Given the description of an element on the screen output the (x, y) to click on. 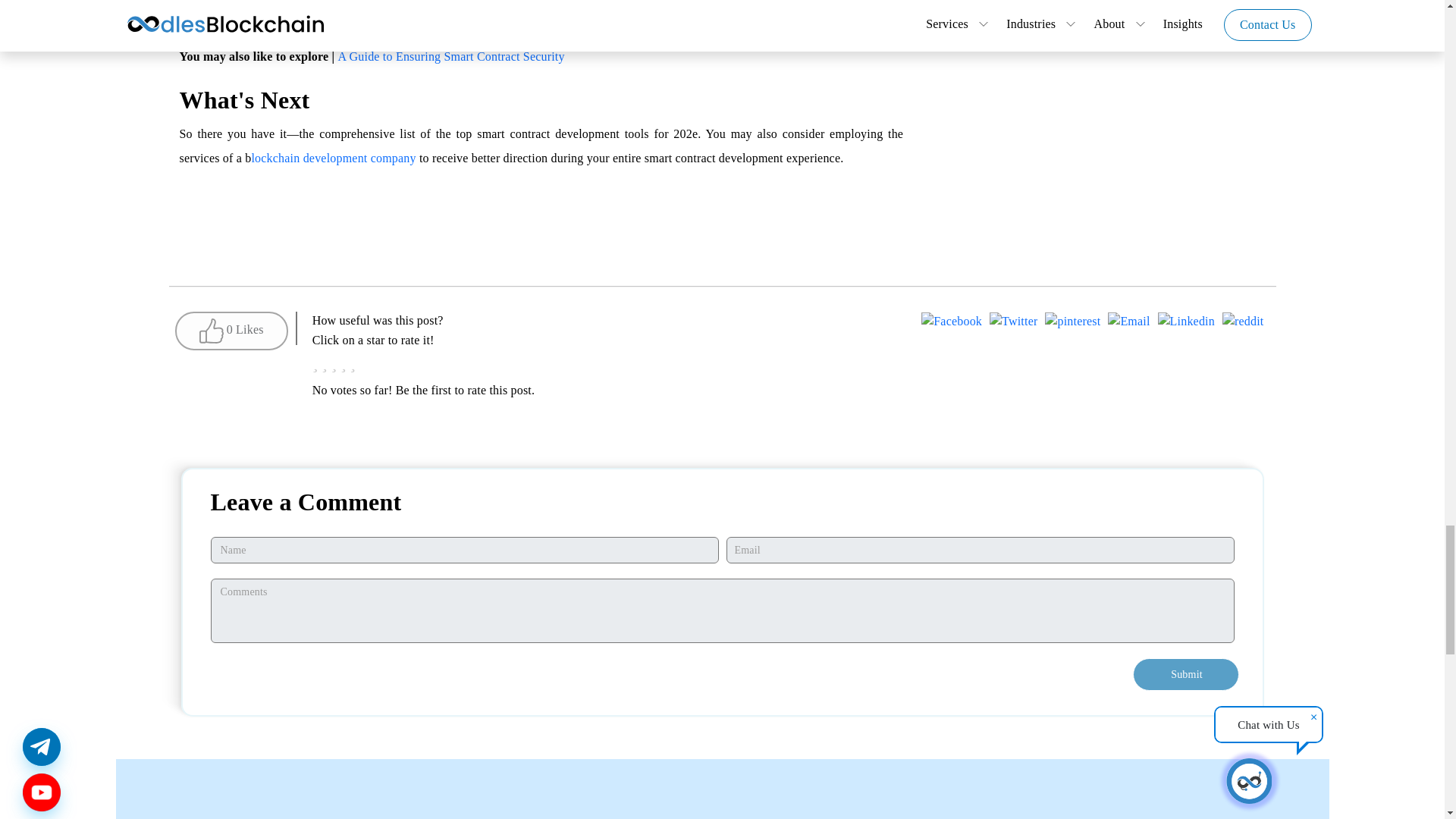
twitter (1013, 323)
mail (1129, 323)
facebook (951, 323)
pinterest (1072, 323)
like (230, 331)
